Given the description of an element on the screen output the (x, y) to click on. 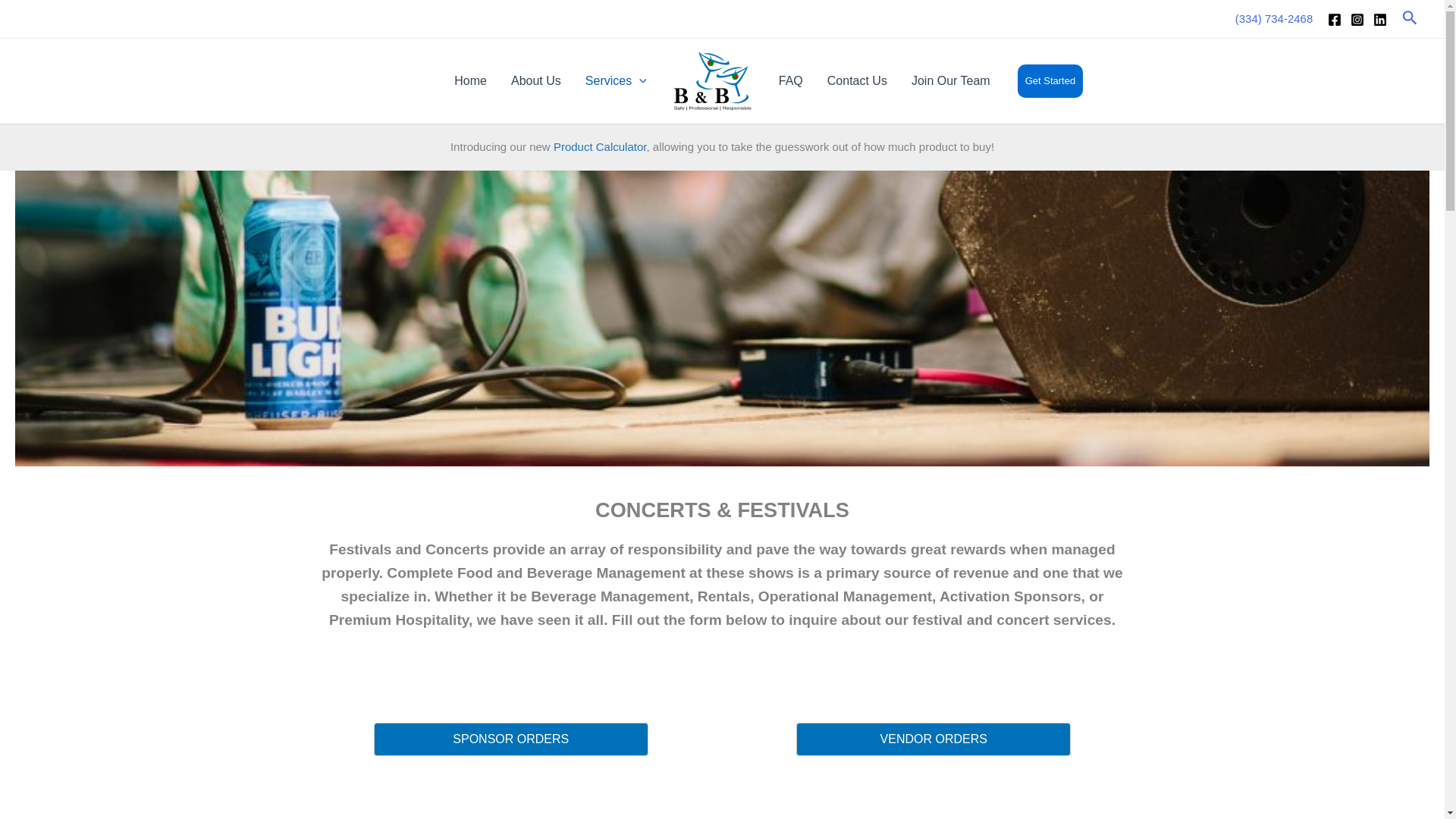
Join Our Team (951, 80)
SPONSOR ORDERS (510, 738)
VENDOR ORDERS (933, 738)
Home (470, 80)
Product Calculator (599, 146)
Services (616, 80)
Contact Us (857, 80)
Get Started (1050, 80)
About Us (536, 80)
